Given the description of an element on the screen output the (x, y) to click on. 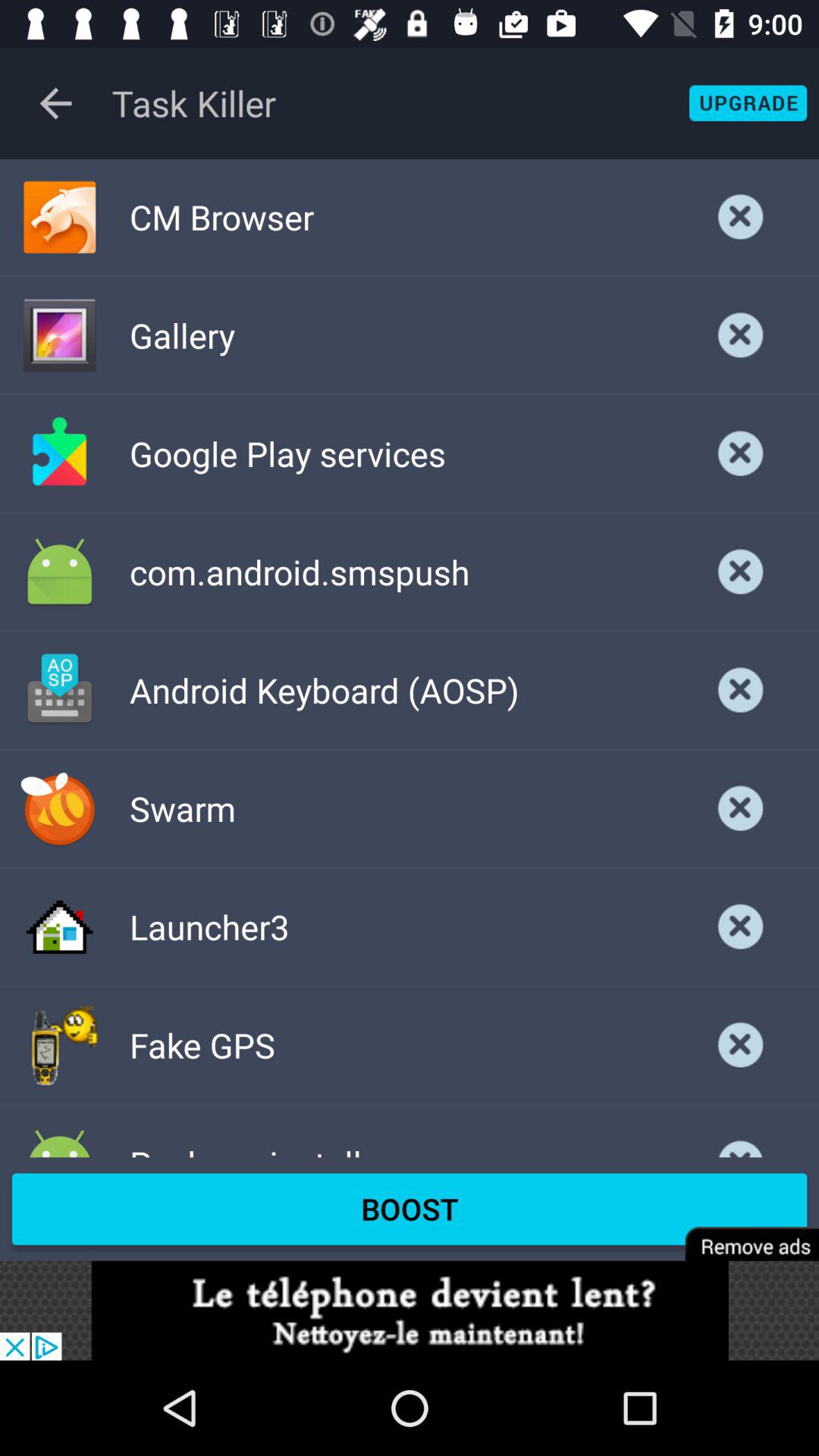
close the option (740, 217)
